Given the description of an element on the screen output the (x, y) to click on. 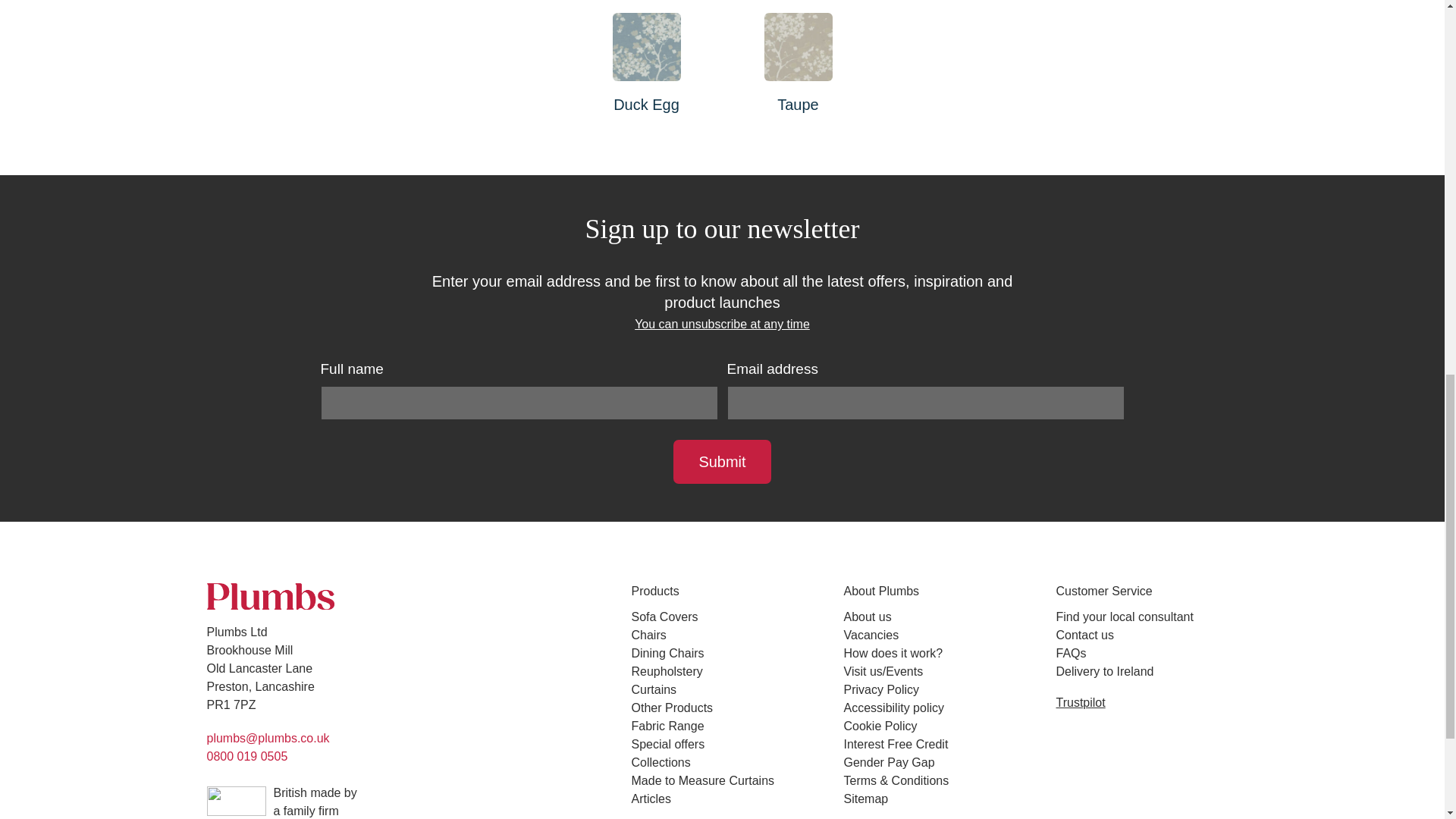
Submit (721, 461)
